Given the description of an element on the screen output the (x, y) to click on. 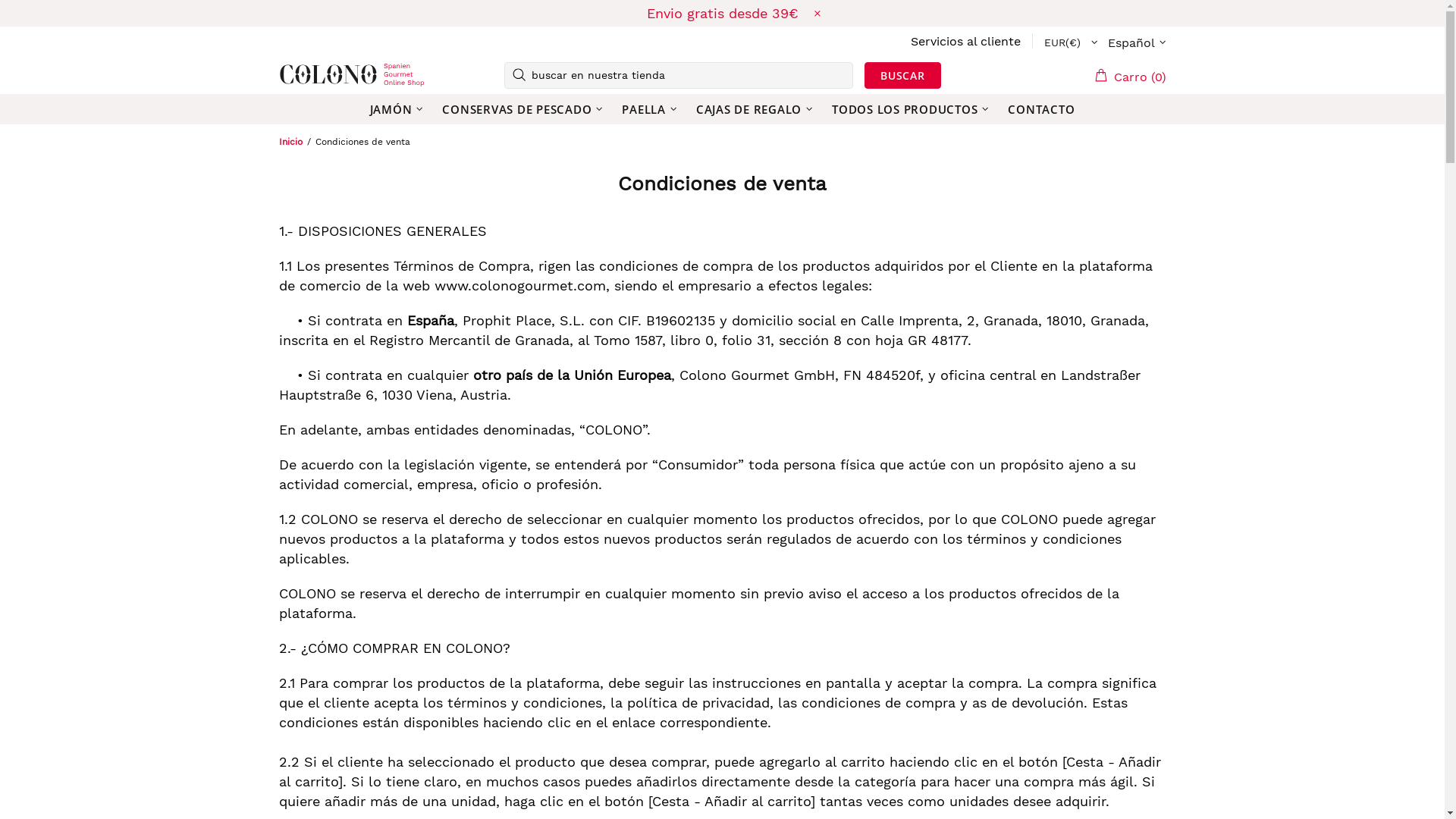
Colono Element type: text (303, 74)
TODOS LOS PRODUCTOS Element type: text (912, 109)
CAJAS DE REGALO Element type: text (756, 109)
PAELLA Element type: text (651, 109)
CONSERVAS DE PESCADO Element type: text (524, 109)
Carro (0) Element type: text (1129, 74)
Servicios al cliente Element type: text (964, 41)
BUSCAR Element type: text (902, 75)
CONTACTO Element type: text (1041, 109)
Inicio Element type: text (290, 141)
